Given the description of an element on the screen output the (x, y) to click on. 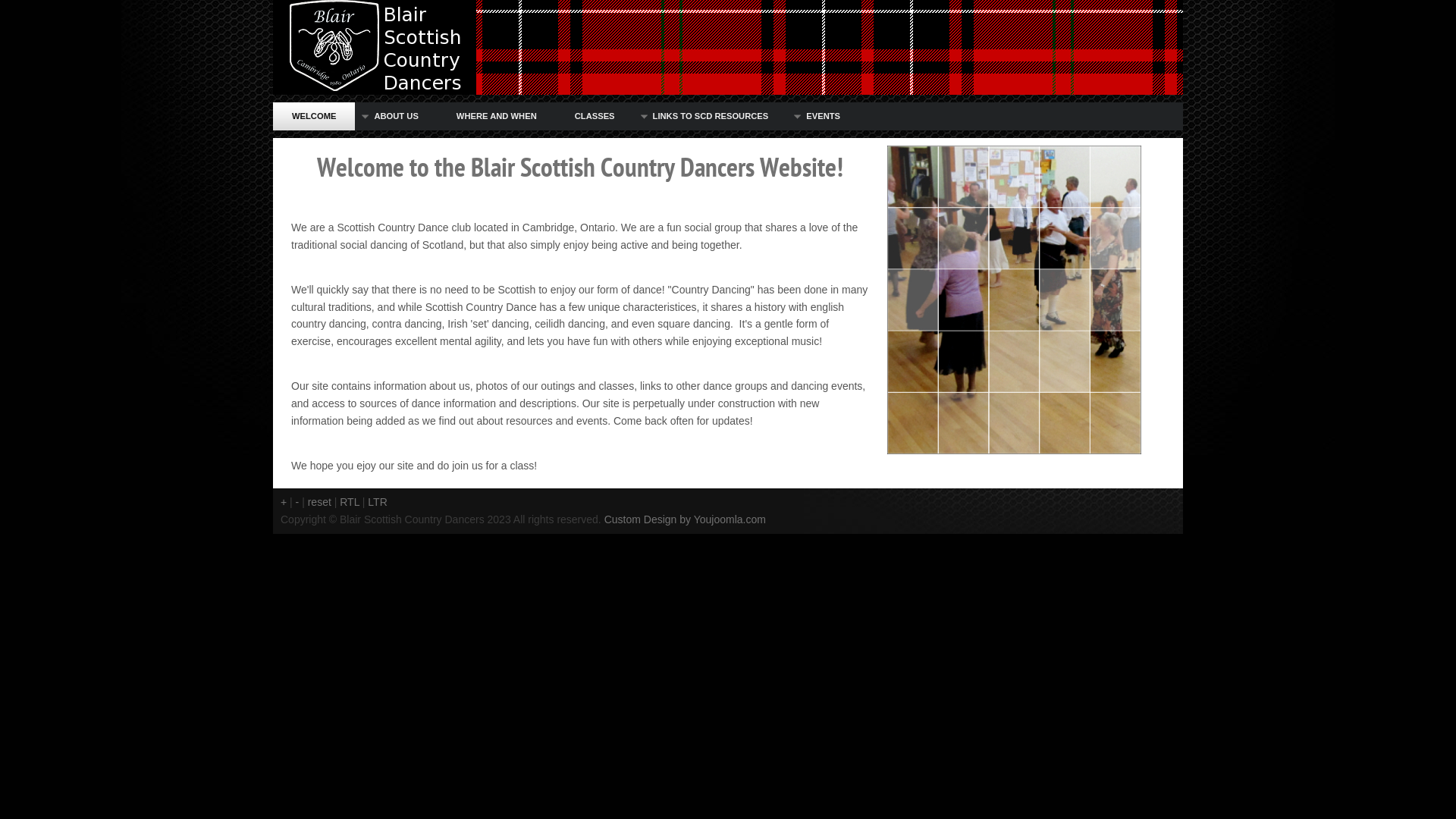
- Element type: text (297, 501)
WHERE AND WHEN Element type: text (496, 116)
WELCOME Element type: text (313, 116)
+ Element type: text (283, 501)
ABOUT US Element type: text (395, 116)
LINKS TO SCD RESOURCES Element type: text (710, 116)
CLASSES Element type: text (594, 116)
Custom Design by Youjoomla.com Element type: text (684, 519)
RTL Element type: text (349, 501)
LTR Element type: text (376, 501)
reset Element type: text (319, 501)
EVENTS Element type: text (823, 116)
